Given the description of an element on the screen output the (x, y) to click on. 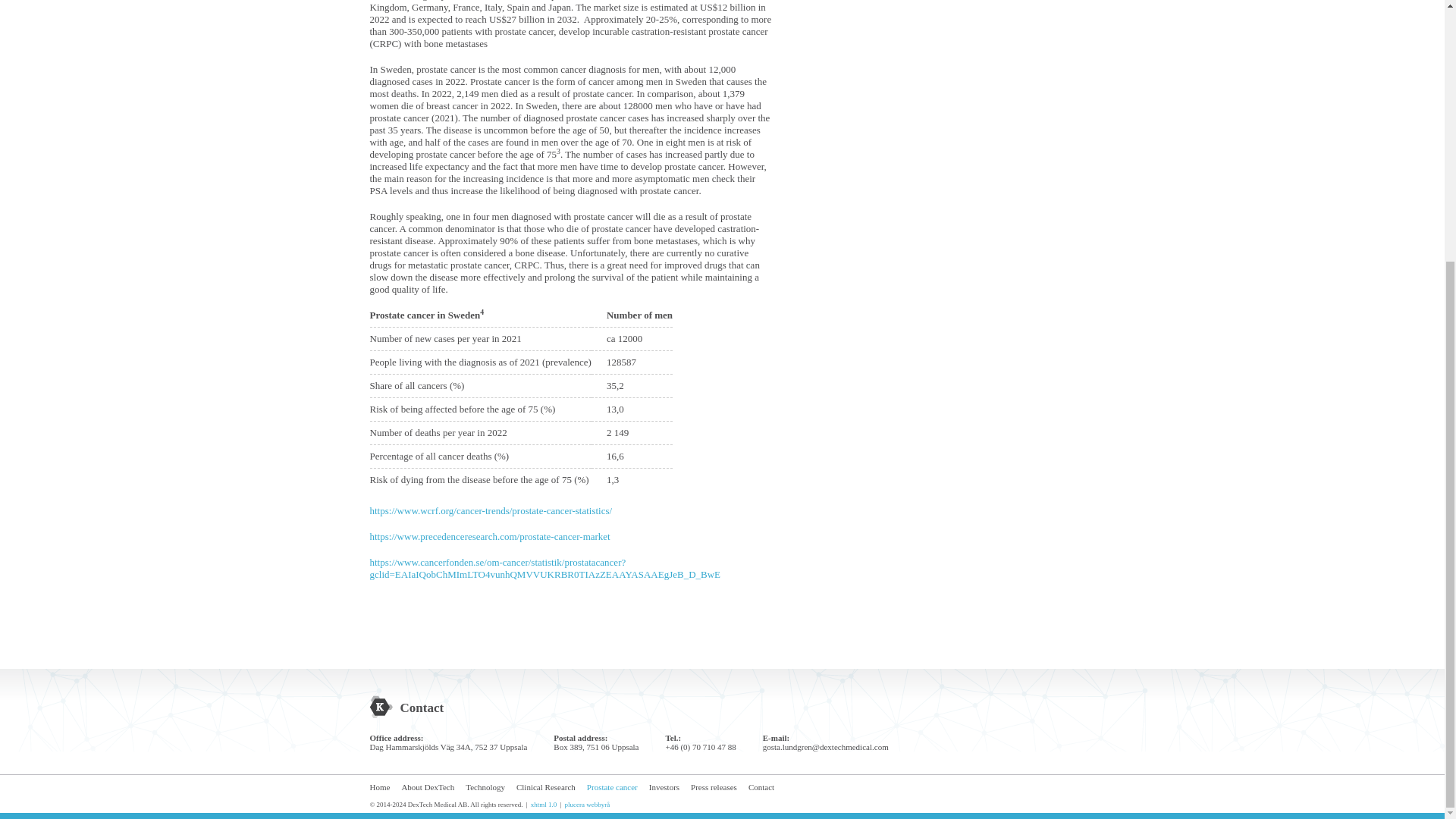
Clinical Research (545, 786)
Technology (485, 786)
Investors (664, 786)
Home (379, 786)
Contact (761, 786)
xhtml 1.0 (544, 804)
plucera (574, 804)
Prostate cancer (611, 786)
About DexTech (427, 786)
 Valid XHTML 1.0 Transitional  (544, 804)
Press releases (713, 786)
